Given the description of an element on the screen output the (x, y) to click on. 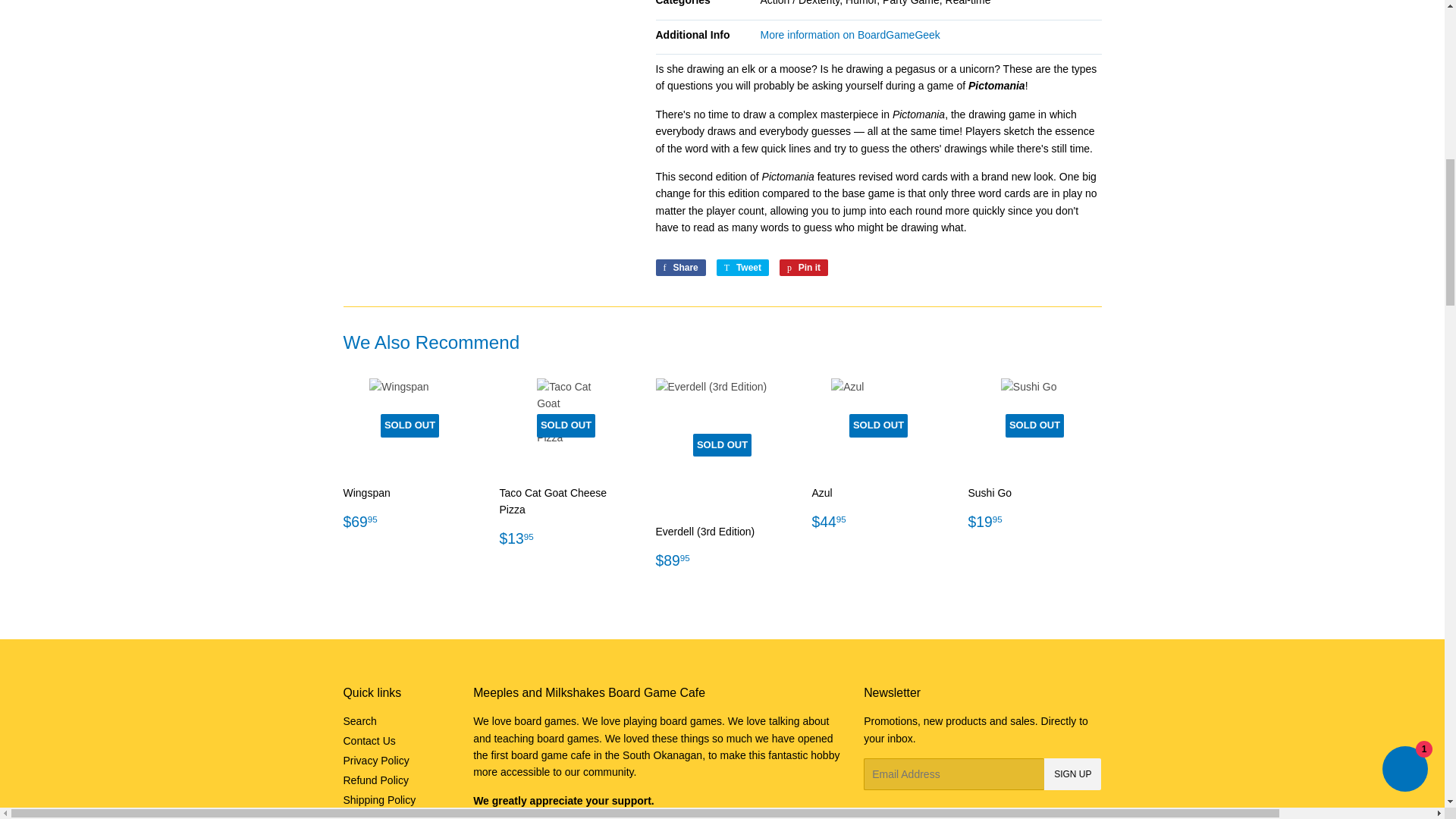
Share on Facebook (679, 267)
Pin on Pinterest (803, 267)
Tweet on Twitter (742, 267)
